Given the description of an element on the screen output the (x, y) to click on. 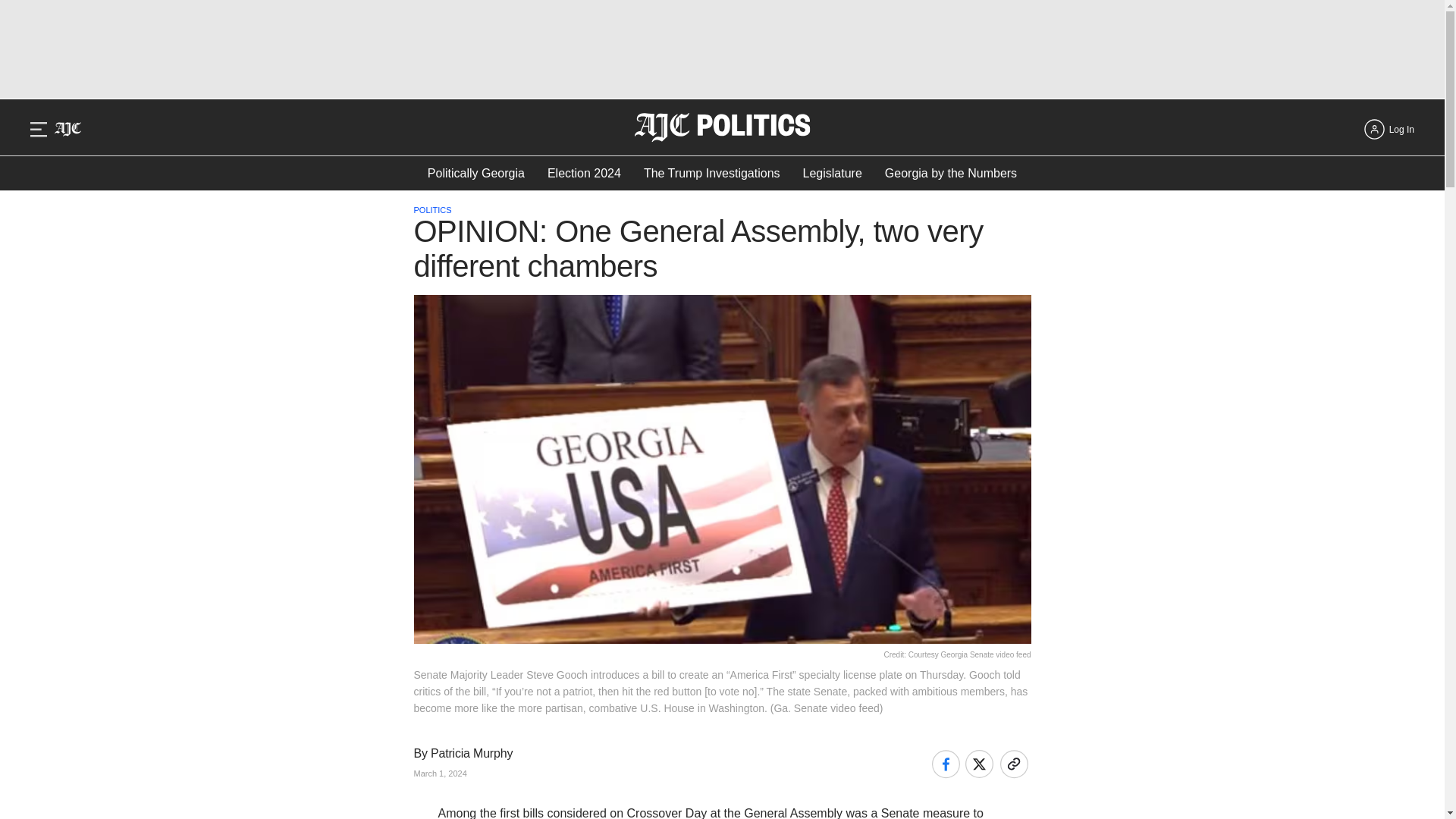
Legislature (832, 173)
Politically Georgia (476, 173)
Georgia by the Numbers (950, 173)
The Trump Investigations (711, 173)
Election 2024 (584, 173)
